Given the description of an element on the screen output the (x, y) to click on. 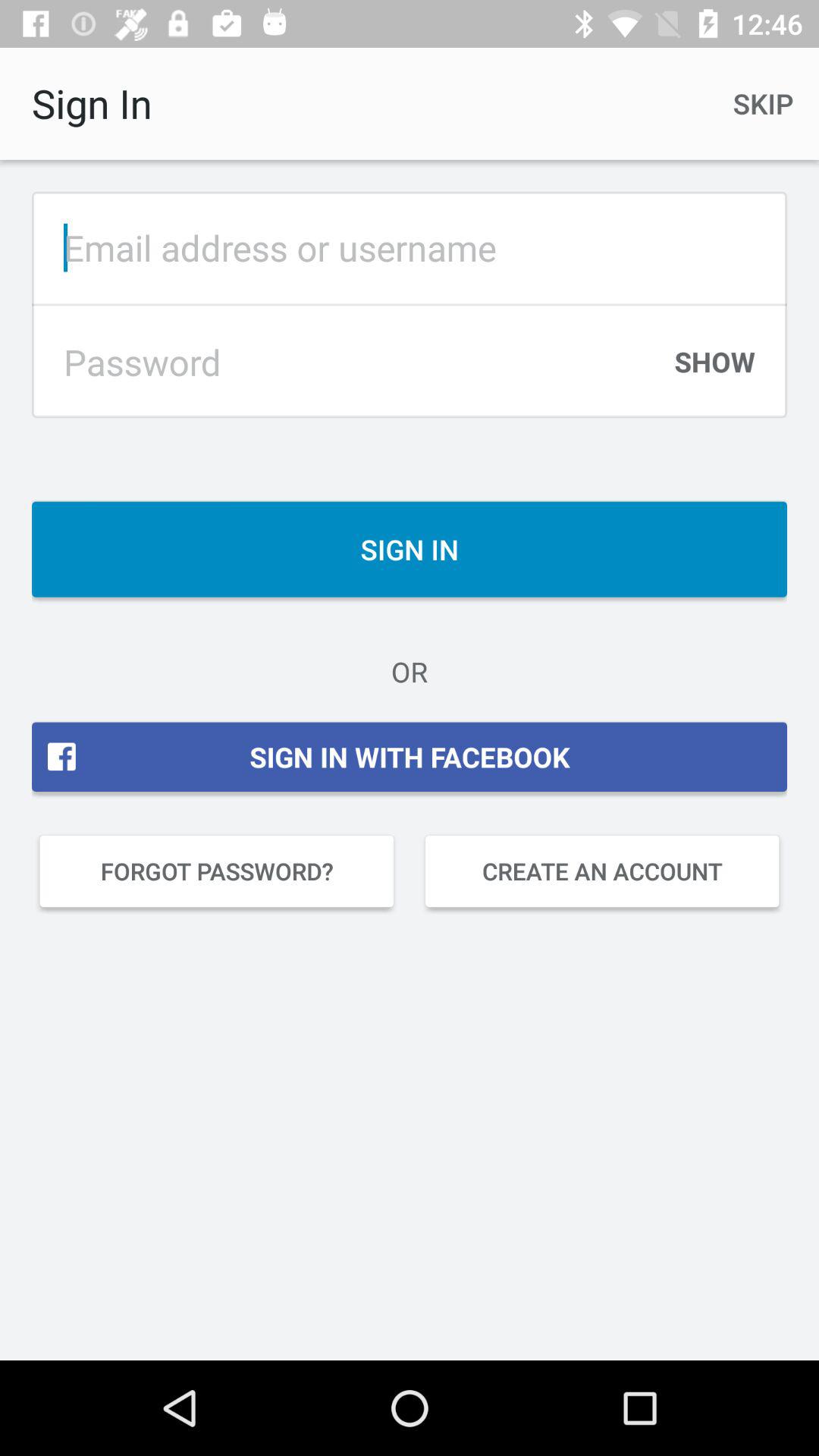
enter email (409, 247)
